Given the description of an element on the screen output the (x, y) to click on. 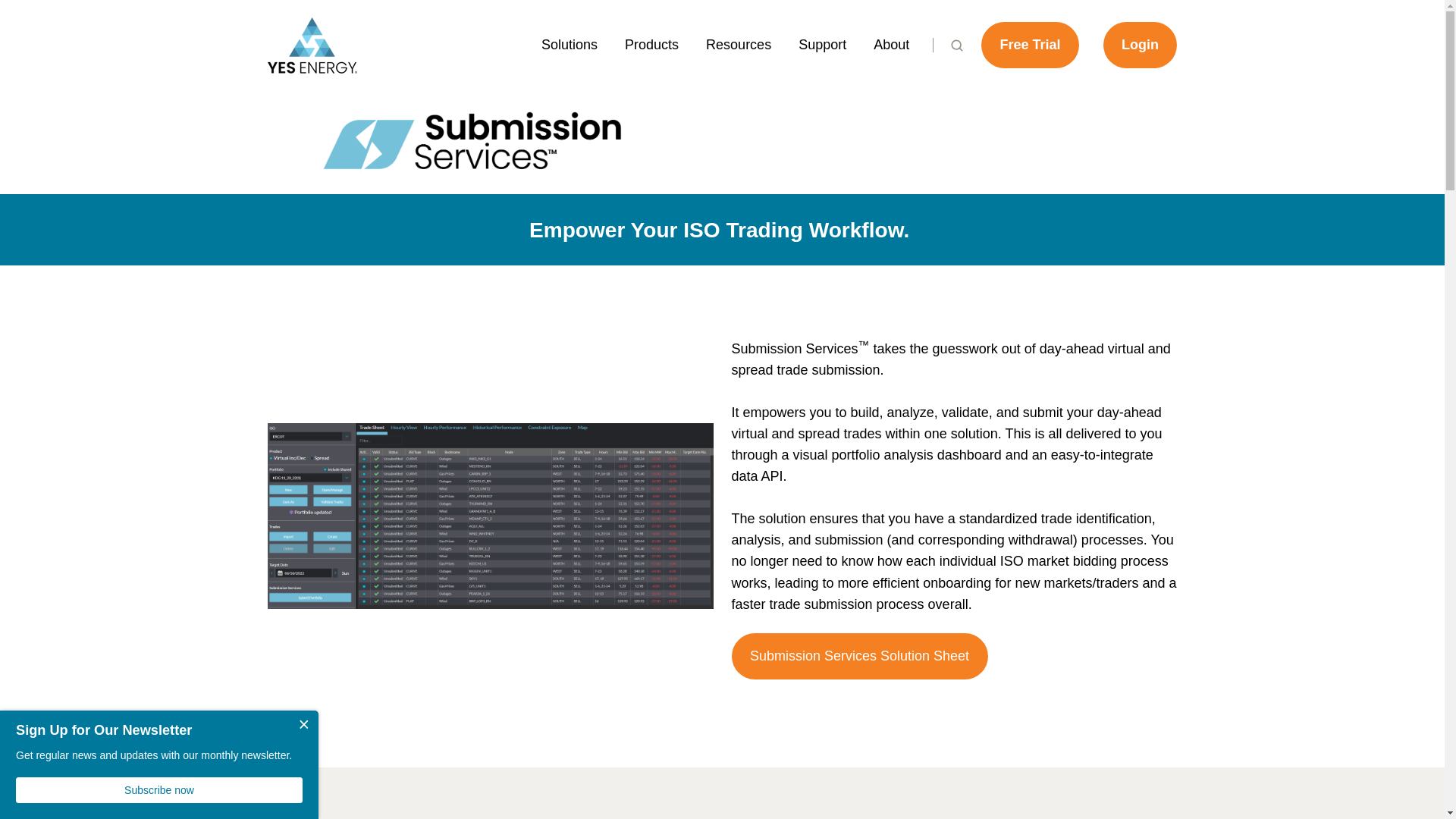
Login (1140, 44)
Yes Energy (311, 44)
Support (822, 44)
About (890, 44)
Free Trial (1029, 44)
Resources (737, 44)
Products (651, 44)
Solutions (569, 44)
